Given the description of an element on the screen output the (x, y) to click on. 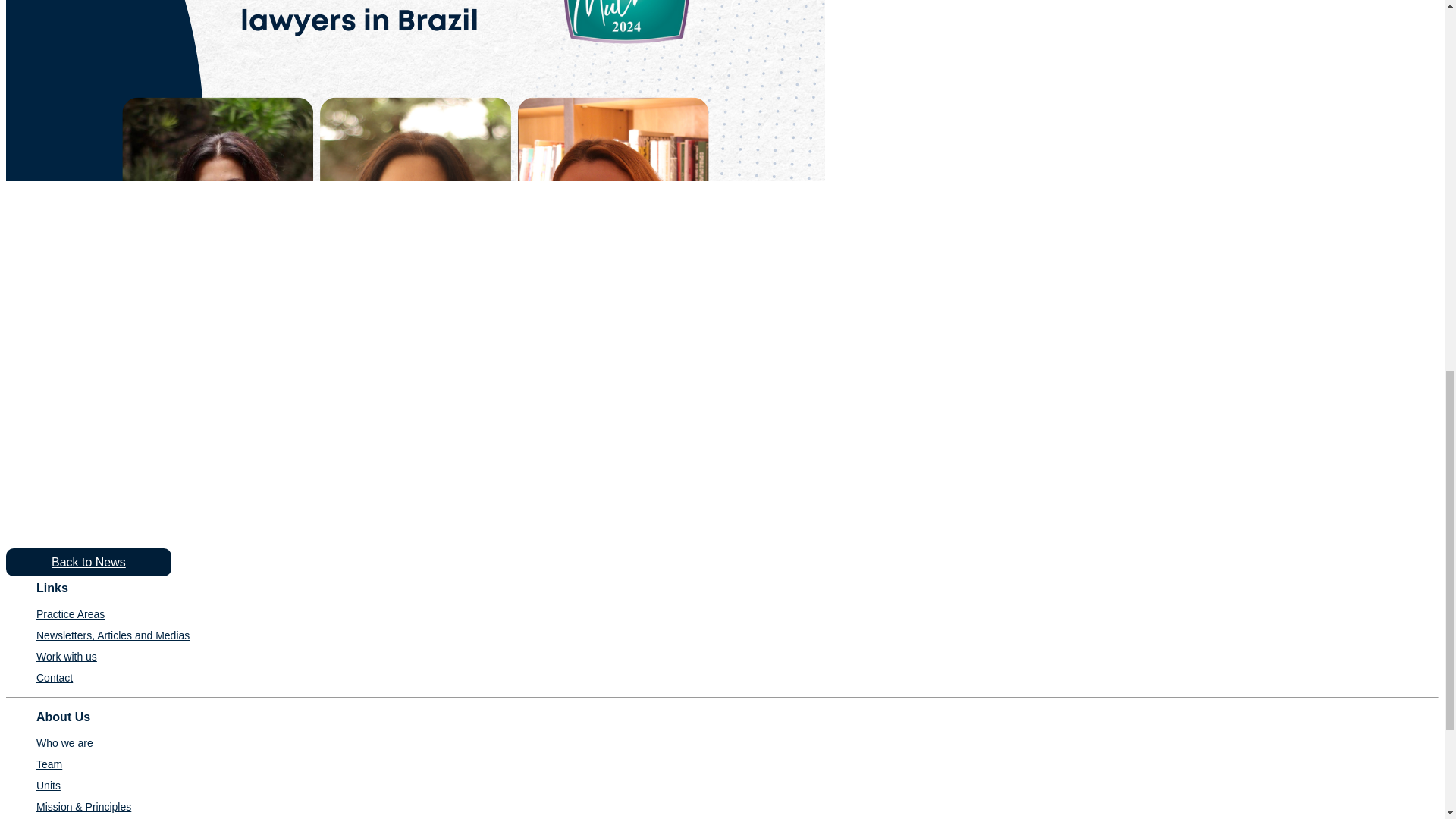
Team (49, 764)
Work with us (66, 656)
Newsletters, Articles and Medias (112, 635)
Contact (54, 677)
Back to News (88, 561)
Who we are (64, 743)
Units (48, 785)
Practice Areas (70, 613)
